Given the description of an element on the screen output the (x, y) to click on. 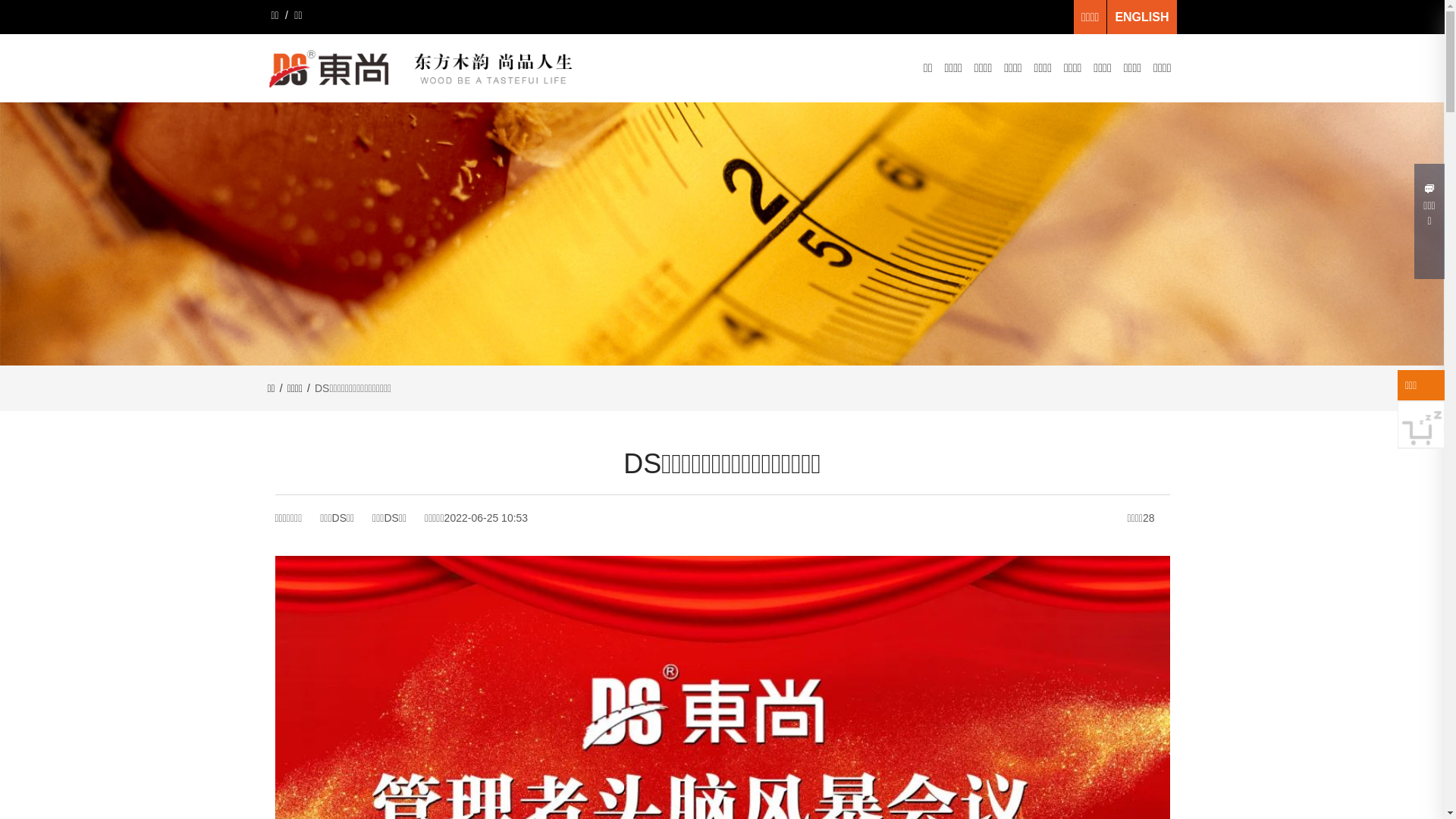
logo Element type: hover (423, 68)
ENGLISH Element type: text (1141, 17)
